Given the description of an element on the screen output the (x, y) to click on. 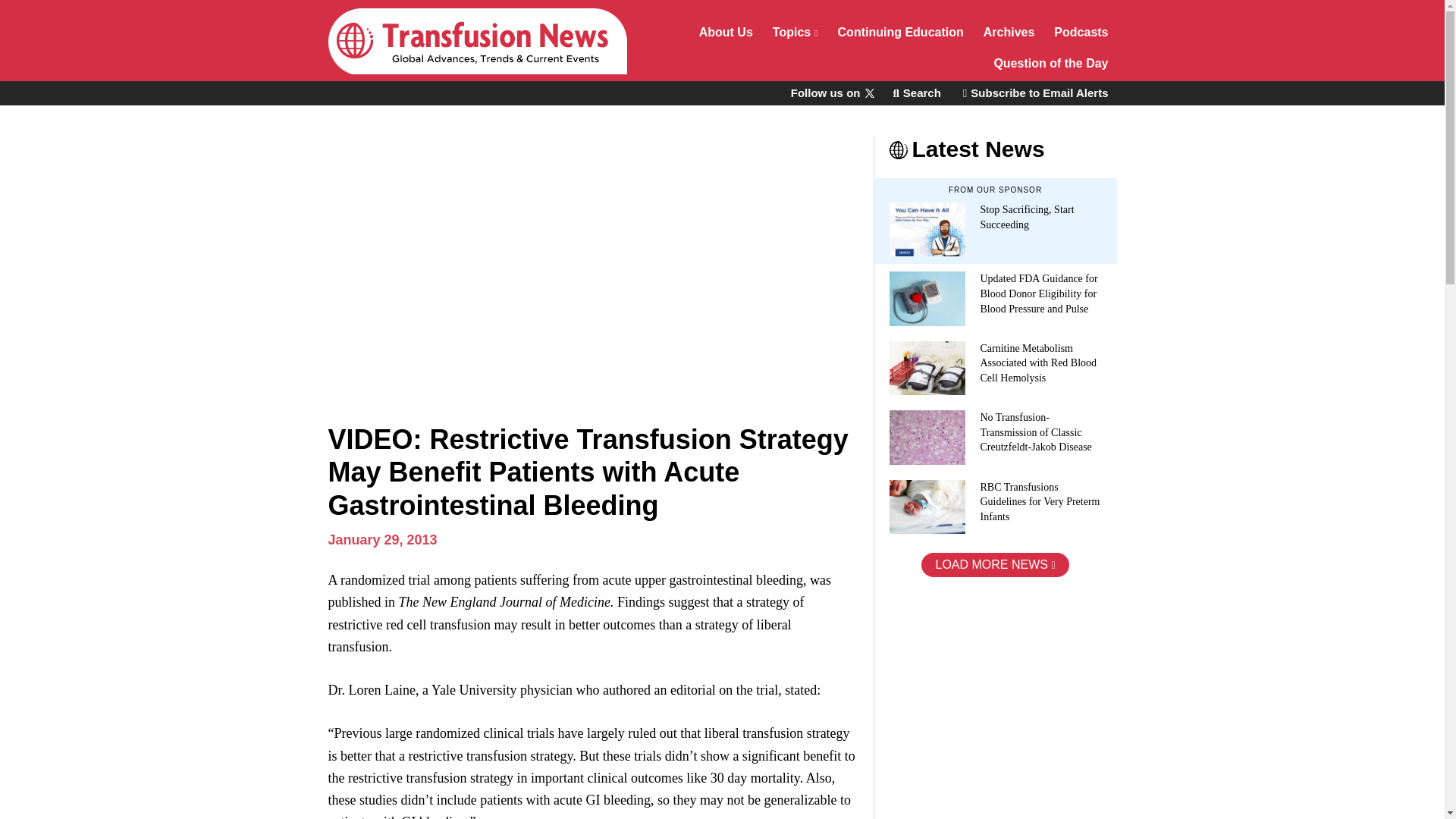
Search (915, 93)
Follow us on (831, 92)
Archives (1009, 33)
Transfusion News (476, 41)
Subscribe to Email Alerts (1035, 93)
Podcasts (1080, 33)
Continuing Education (900, 33)
About Us (725, 33)
Topics (795, 33)
Question of the Day (1050, 65)
